Given the description of an element on the screen output the (x, y) to click on. 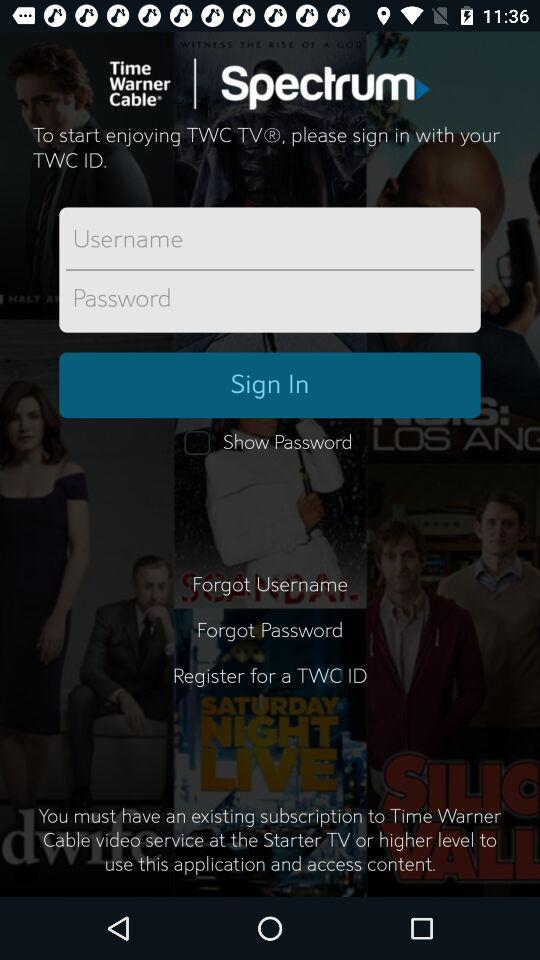
scroll to the forgot username item (270, 584)
